Given the description of an element on the screen output the (x, y) to click on. 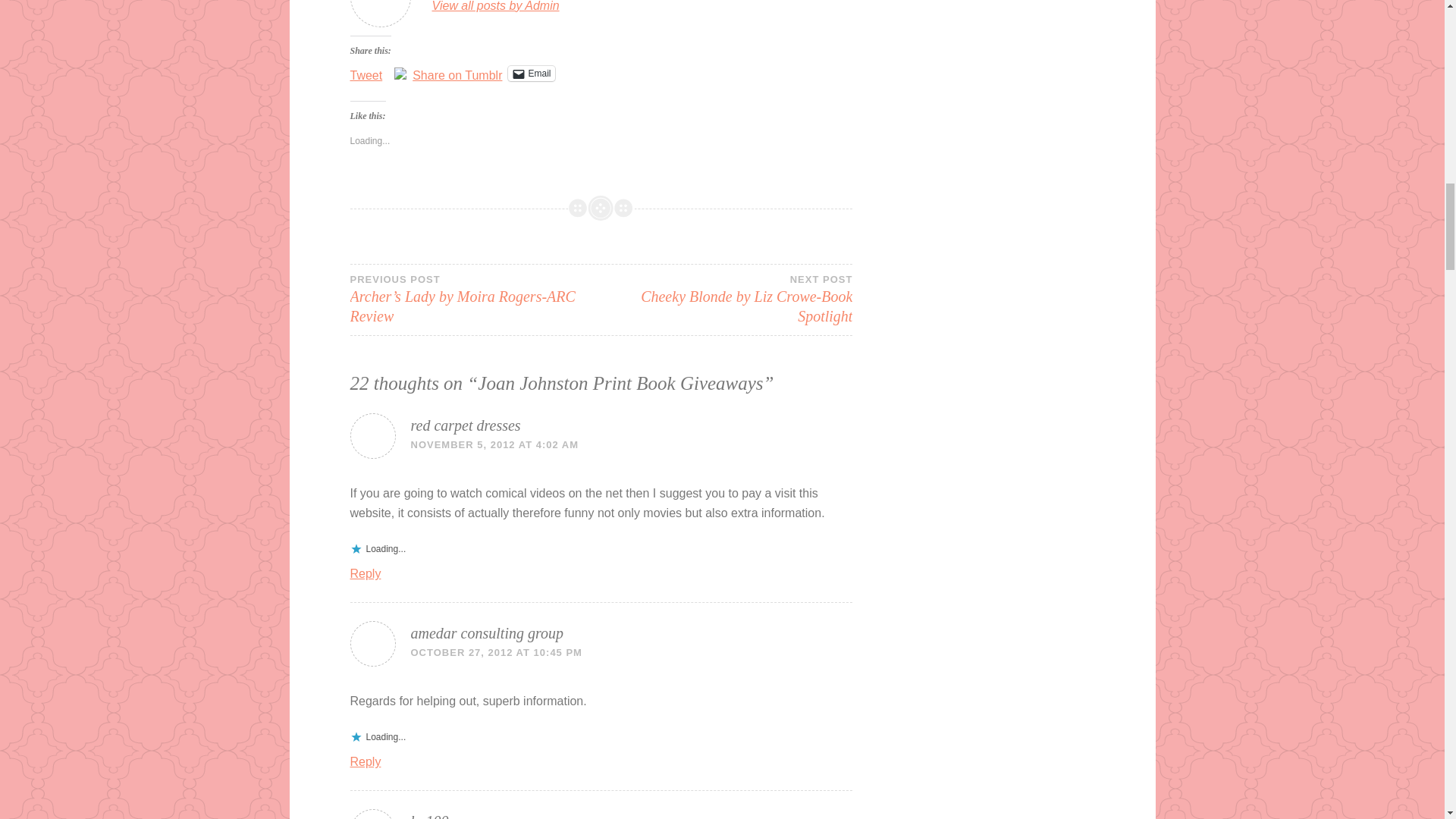
Tweet (366, 72)
Share on Tumblr (457, 72)
Share on Tumblr (457, 72)
NOVEMBER 5, 2012 AT 4:02 AM (494, 444)
amedar consulting group (726, 298)
View all posts by Admin (486, 632)
red carpet dresses (495, 7)
Click to email a link to a friend (465, 425)
Reply (531, 73)
